Given the description of an element on the screen output the (x, y) to click on. 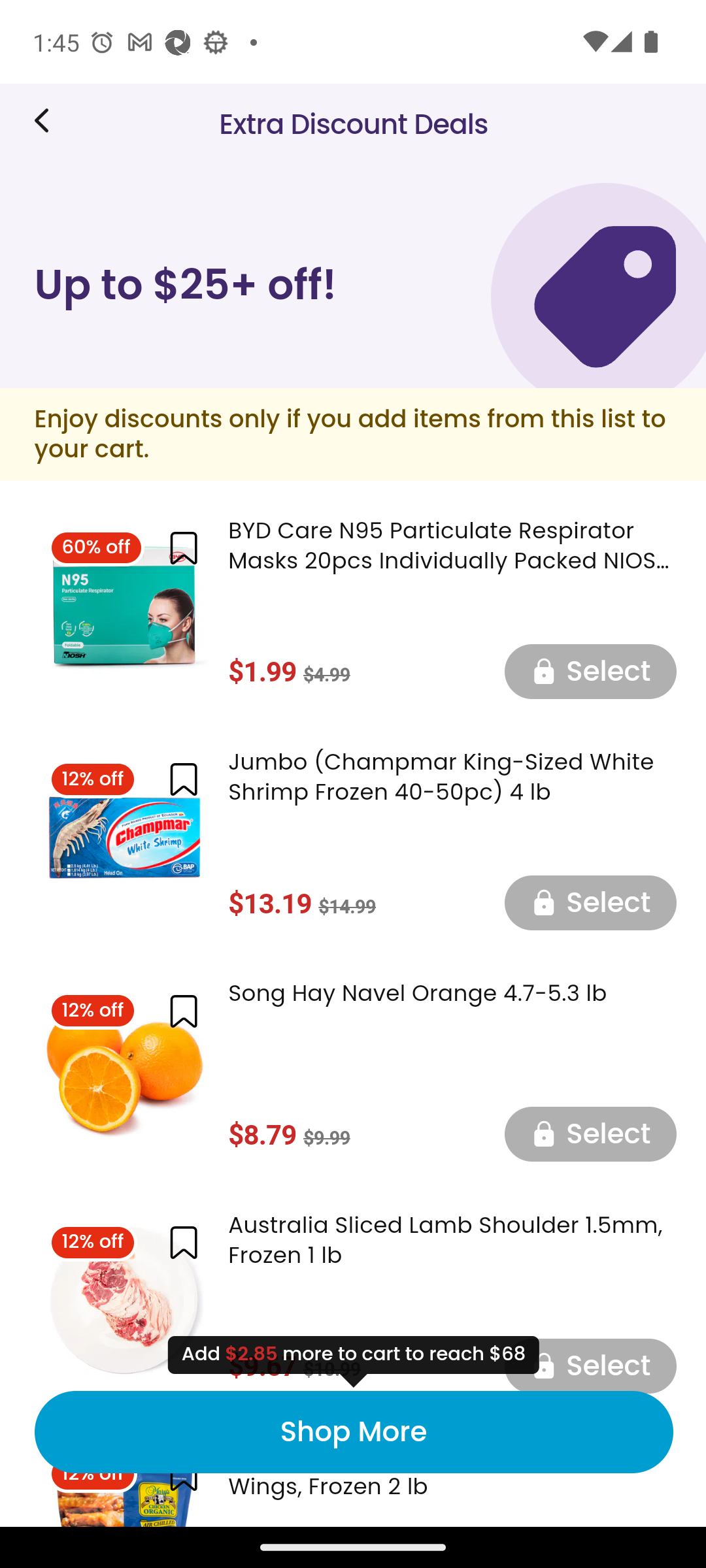
Weee! - Groceries Delivered (47, 119)
 (182, 548)
 Select (589, 670)
 (182, 778)
 Select (589, 901)
 (182, 1010)
 Select (589, 1133)
 (182, 1242)
 Select (589, 1364)
Shop More (352, 1431)
